Given the description of an element on the screen output the (x, y) to click on. 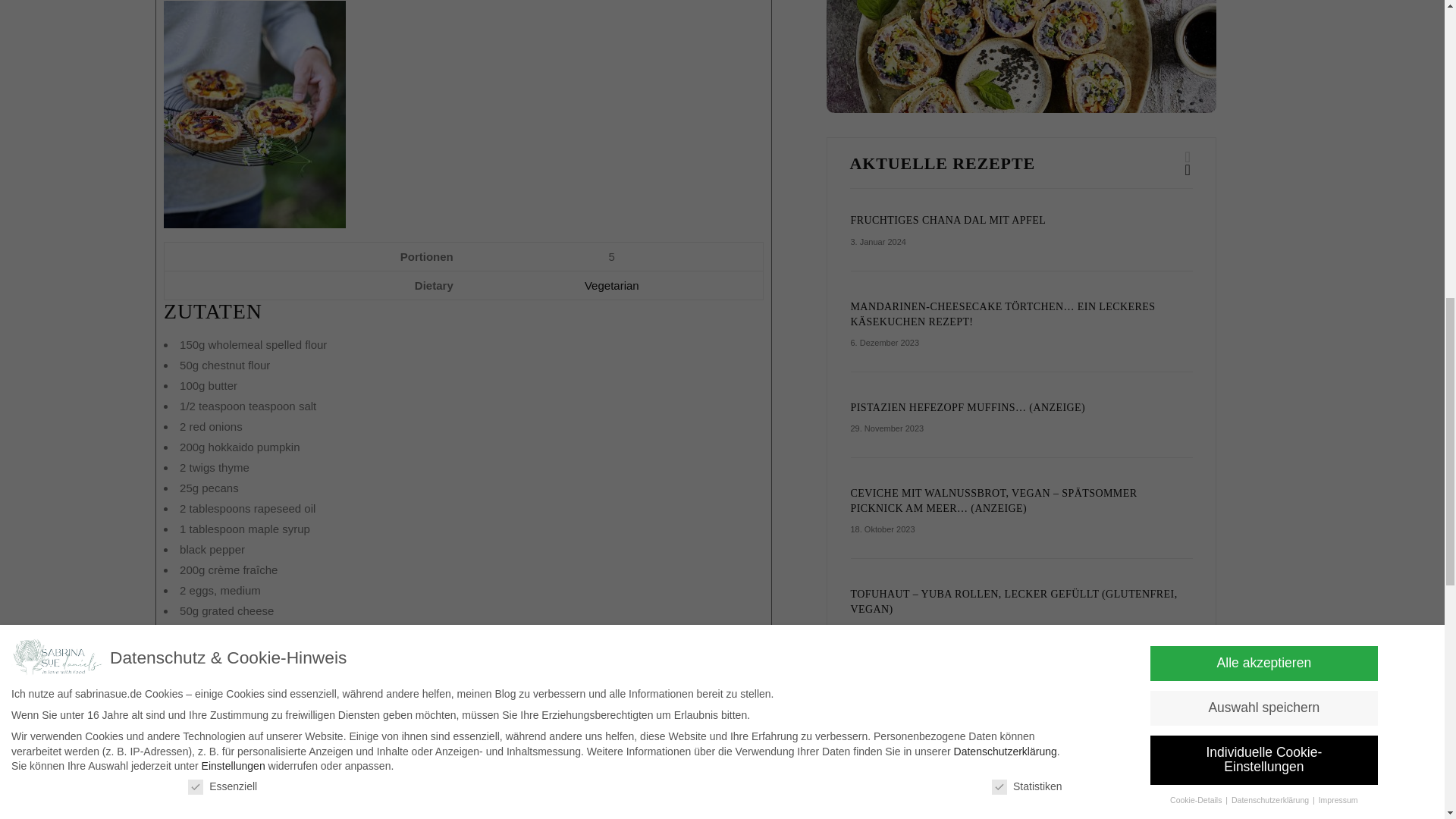
Fruchtiges Chana Dal mit Apfel (948, 220)
